Given the description of an element on the screen output the (x, y) to click on. 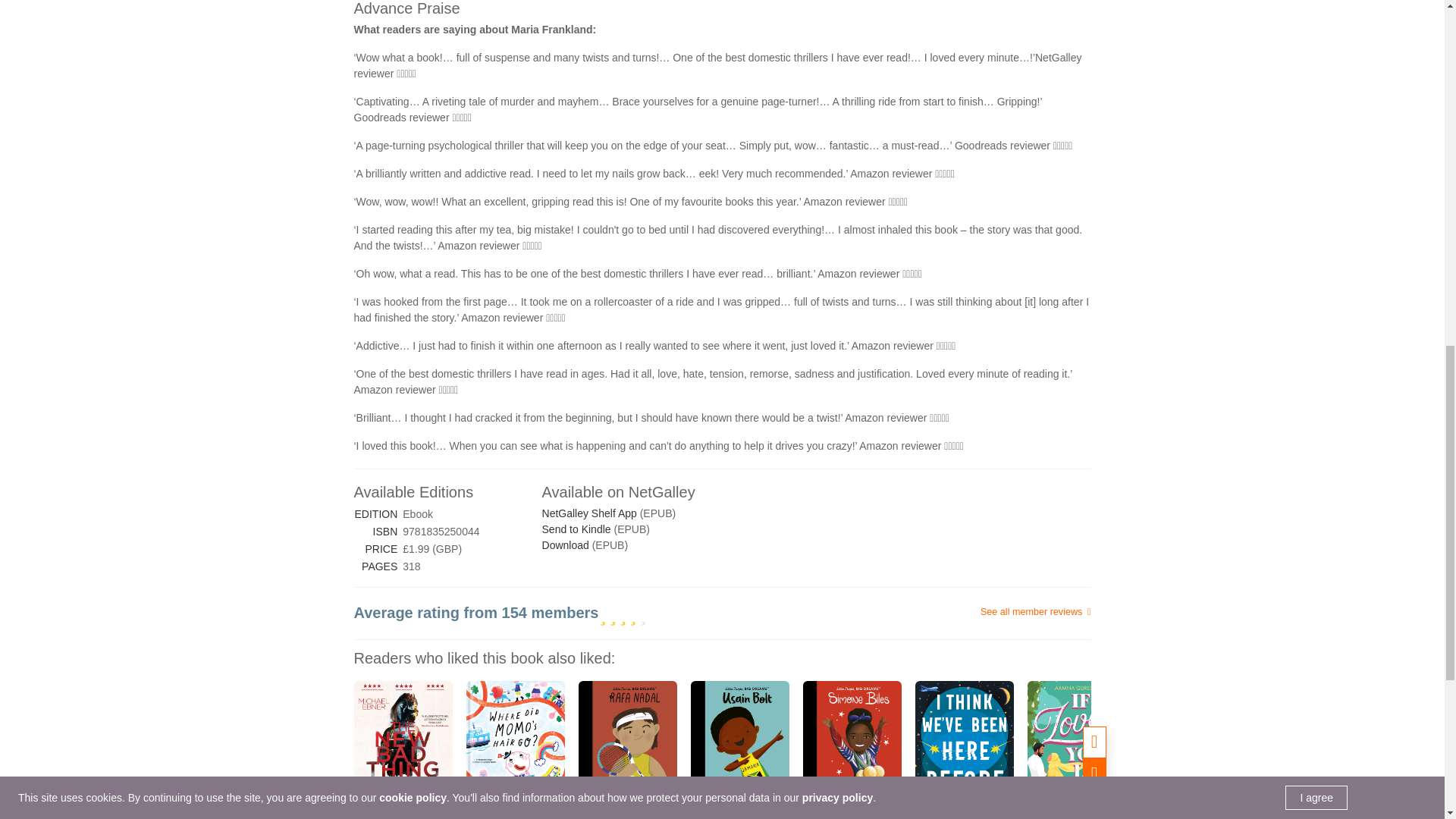
See all member reviews (967, 612)
